Given the description of an element on the screen output the (x, y) to click on. 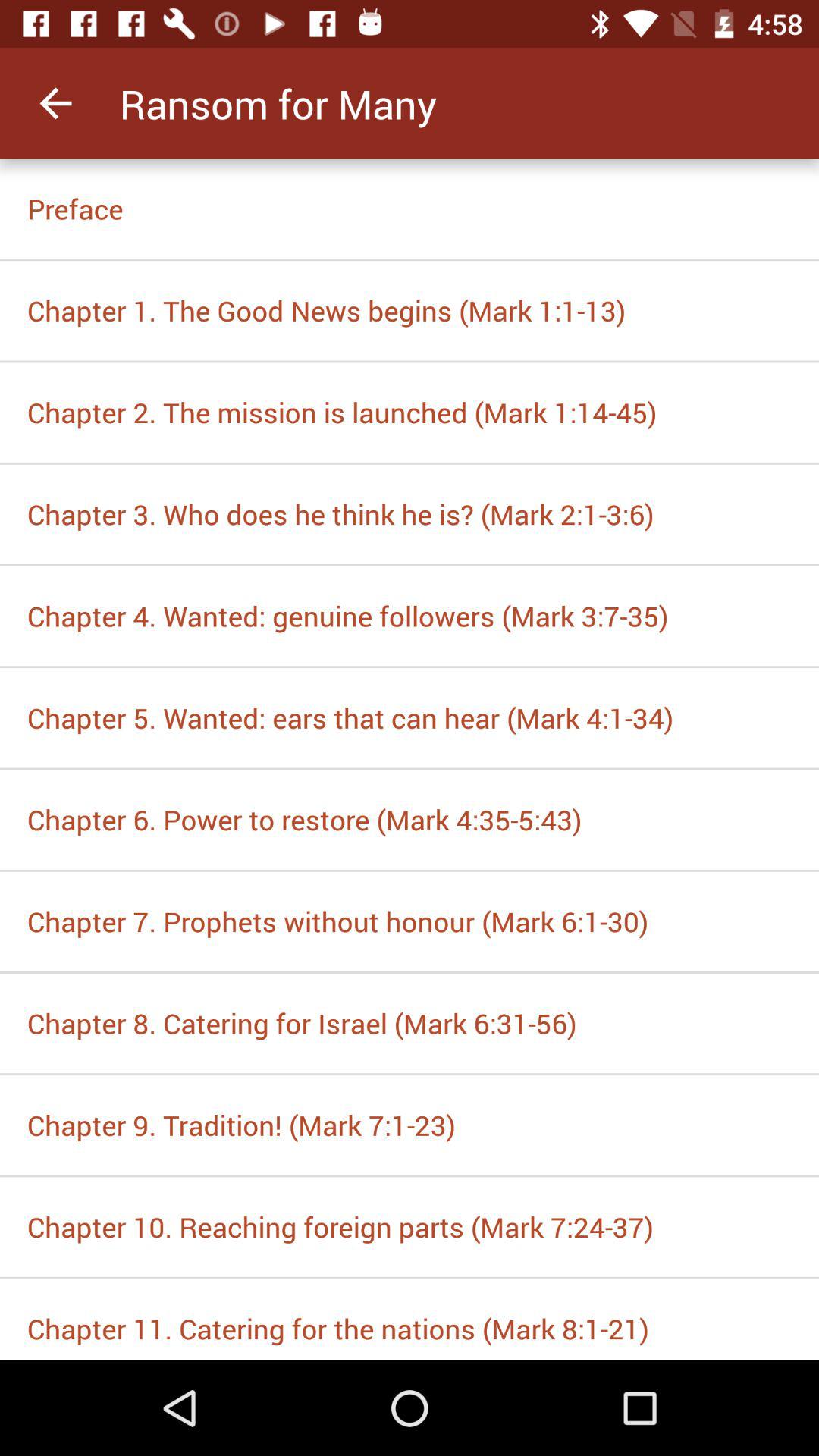
press the preface (409, 208)
